Given the description of an element on the screen output the (x, y) to click on. 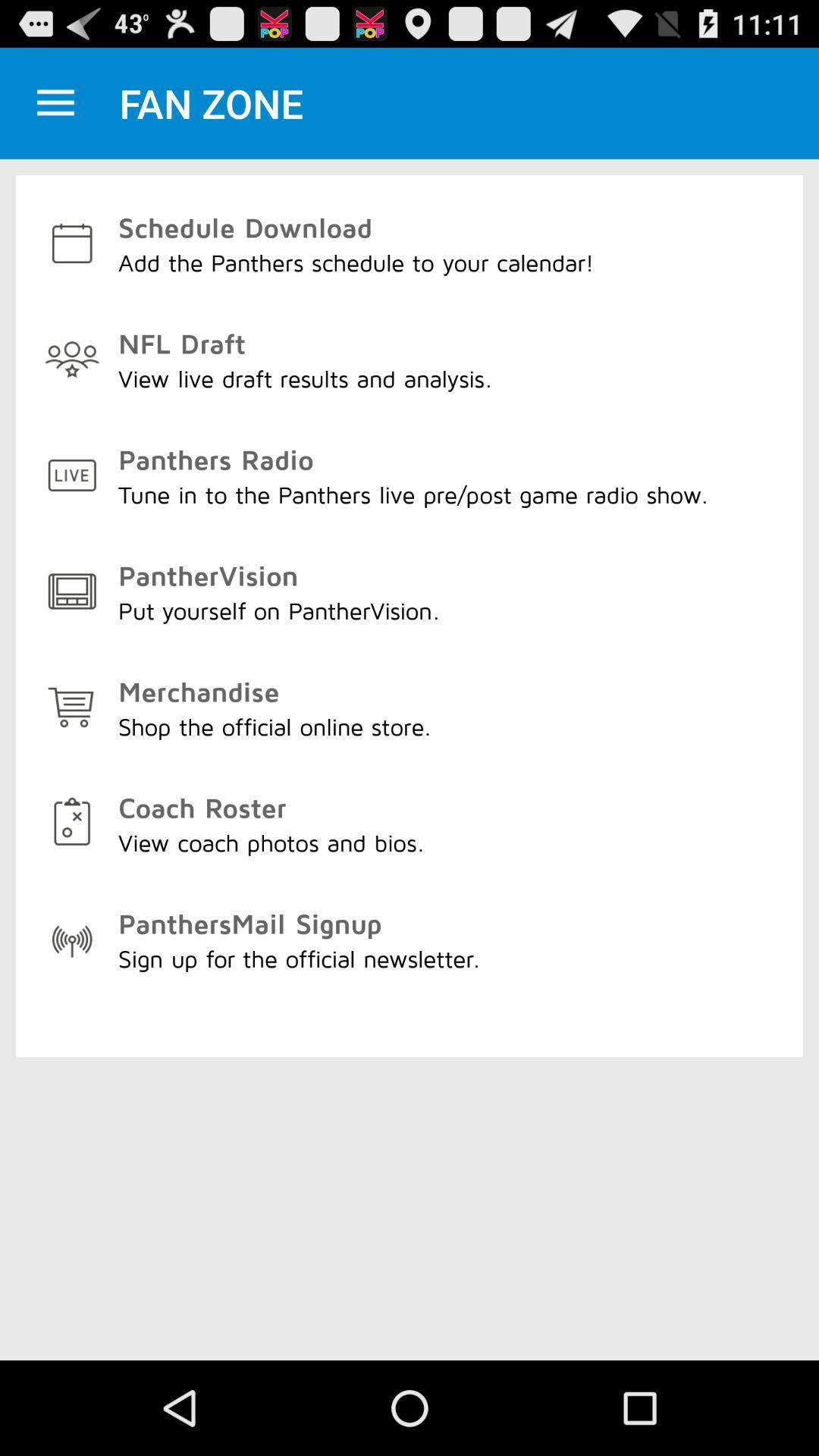
tap app to the left of the fan zone item (55, 103)
